Given the description of an element on the screen output the (x, y) to click on. 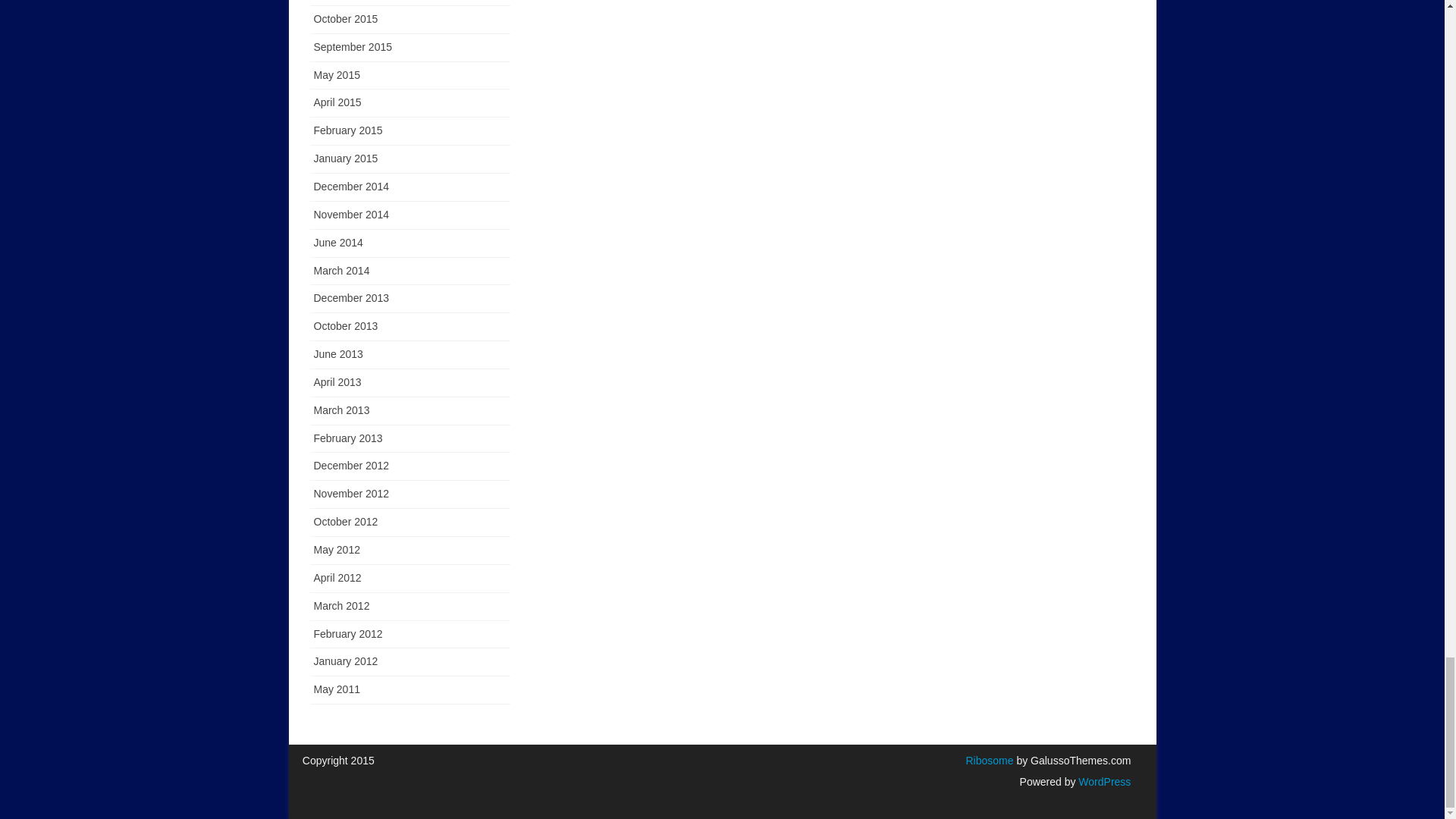
Semantic Personal Publishing Platform (1103, 781)
